Given the description of an element on the screen output the (x, y) to click on. 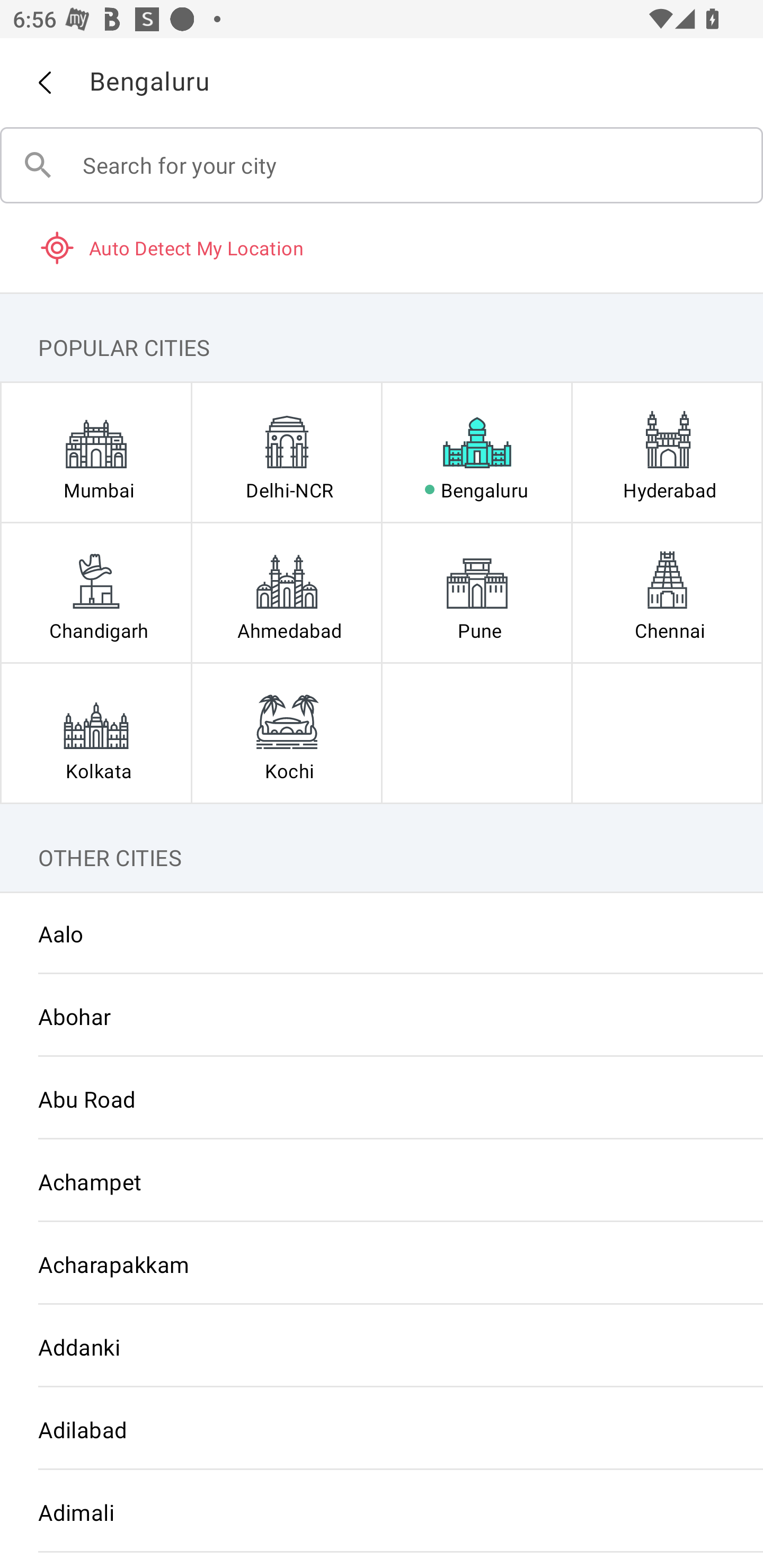
Back (44, 82)
Search for your city (381, 165)
Auto Detect My Location (381, 247)
Mumbai (95, 452)
Delhi-NCR (286, 452)
Bengaluru (476, 452)
Hyderabad (667, 452)
Chandigarh (95, 592)
Ahmedabad (286, 592)
Pune (476, 592)
Chennai (667, 592)
Kolkata (95, 732)
Kochi (286, 732)
Aalo (381, 933)
Abohar (381, 1015)
Abu Road (381, 1098)
Achampet (381, 1181)
Acharapakkam (381, 1263)
Addanki (381, 1346)
Adilabad (381, 1429)
Adimali (381, 1512)
